Given the description of an element on the screen output the (x, y) to click on. 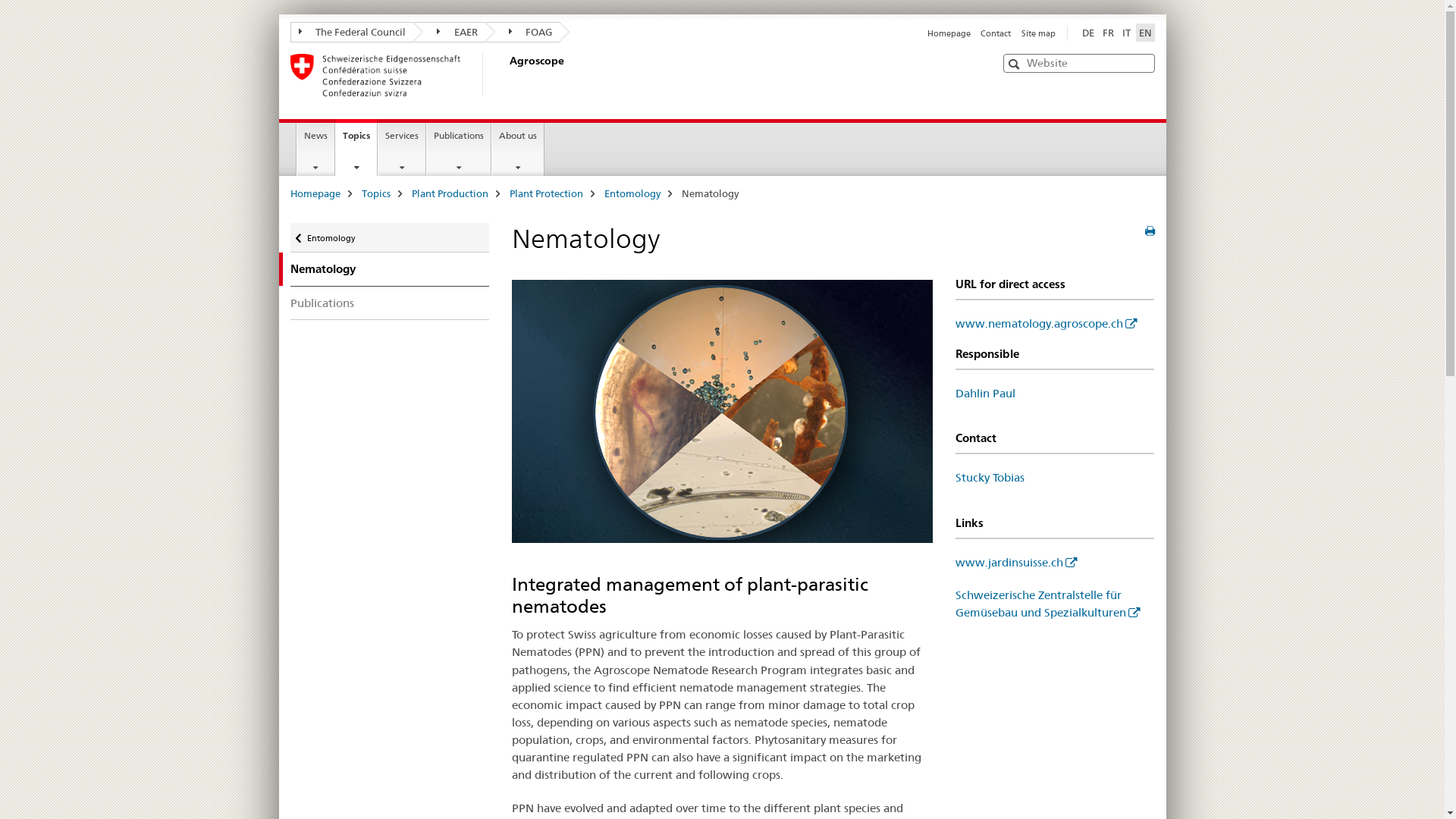
The Federal Council Element type: text (351, 31)
Services Element type: text (401, 148)
www.jardinsuisse.ch Element type: text (1015, 562)
Back to
Entomology Element type: text (389, 237)
Publications Element type: text (389, 302)
Contact Element type: text (995, 33)
Agroscope Element type: text (505, 74)
FOAG Element type: text (522, 31)
EN Element type: text (1144, 32)
Homepage Element type: text (314, 193)
Plant Protection Element type: text (546, 193)
Publications Element type: text (458, 148)
www.nematology.agroscope.ch Element type: text (1045, 323)
Topics
current page Element type: text (355, 147)
News Element type: text (315, 148)
Print this page Element type: hover (1149, 230)
Homepage Element type: text (948, 33)
Stucky Tobias Element type: text (989, 477)
Plant Production Element type: text (449, 193)
Dahlin Paul Element type: text (985, 392)
EAER Element type: text (449, 31)
Topics Element type: text (374, 193)
IT Element type: text (1126, 32)
Site map Element type: text (1037, 33)
DE Element type: text (1087, 32)
Entomology Element type: text (631, 193)
About us Element type: text (517, 148)
FR Element type: text (1108, 32)
